Given the description of an element on the screen output the (x, y) to click on. 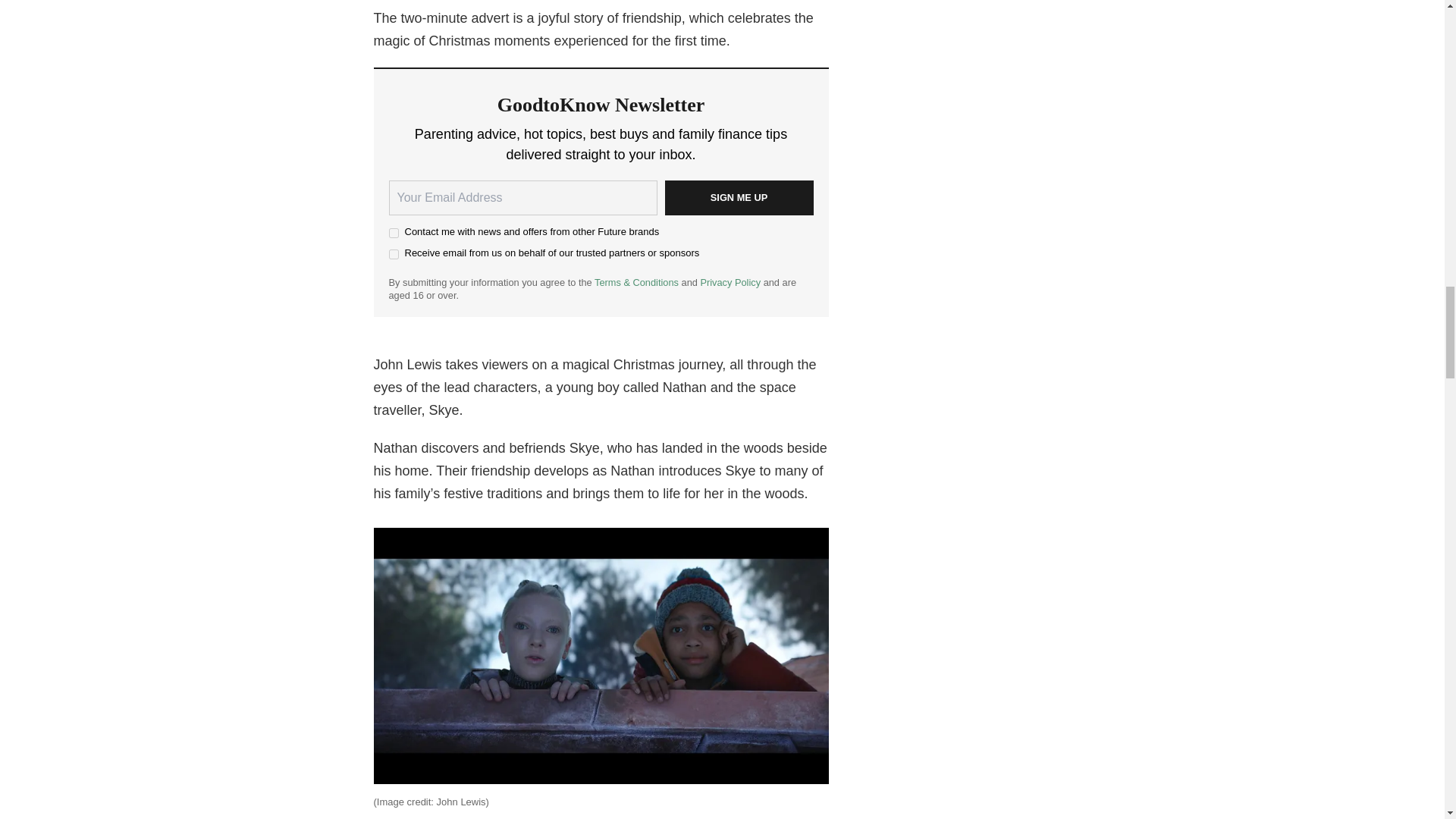
on (392, 254)
on (392, 233)
Sign me up (737, 197)
